Given the description of an element on the screen output the (x, y) to click on. 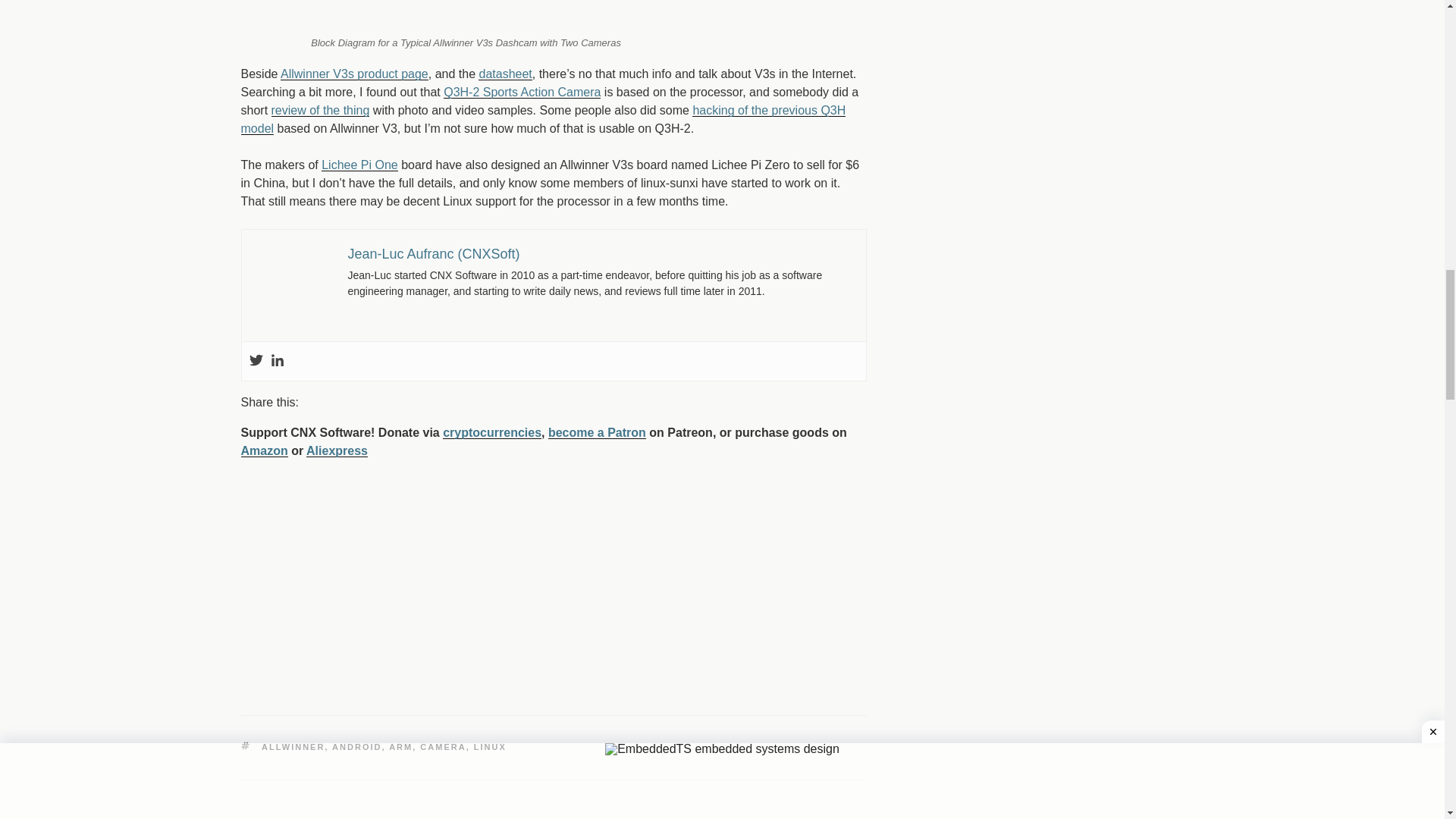
Allwinner V3s product page (354, 73)
Q3H-2 Sports Action Camera (521, 91)
review of the thing (319, 110)
hacking of the previous Q3H model (543, 119)
Lichee Pi One (359, 164)
datasheet (505, 73)
